Given the description of an element on the screen output the (x, y) to click on. 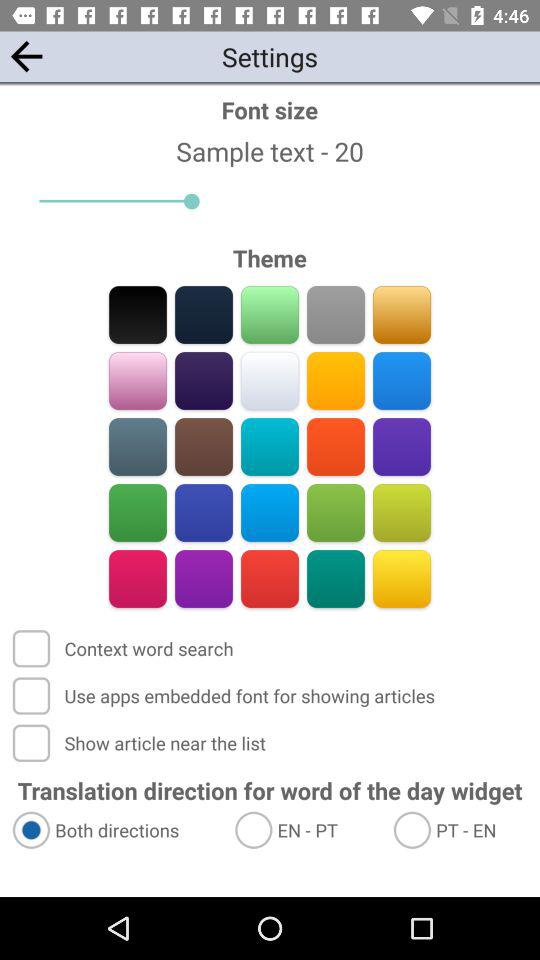
switch violet color (401, 446)
